Given the description of an element on the screen output the (x, y) to click on. 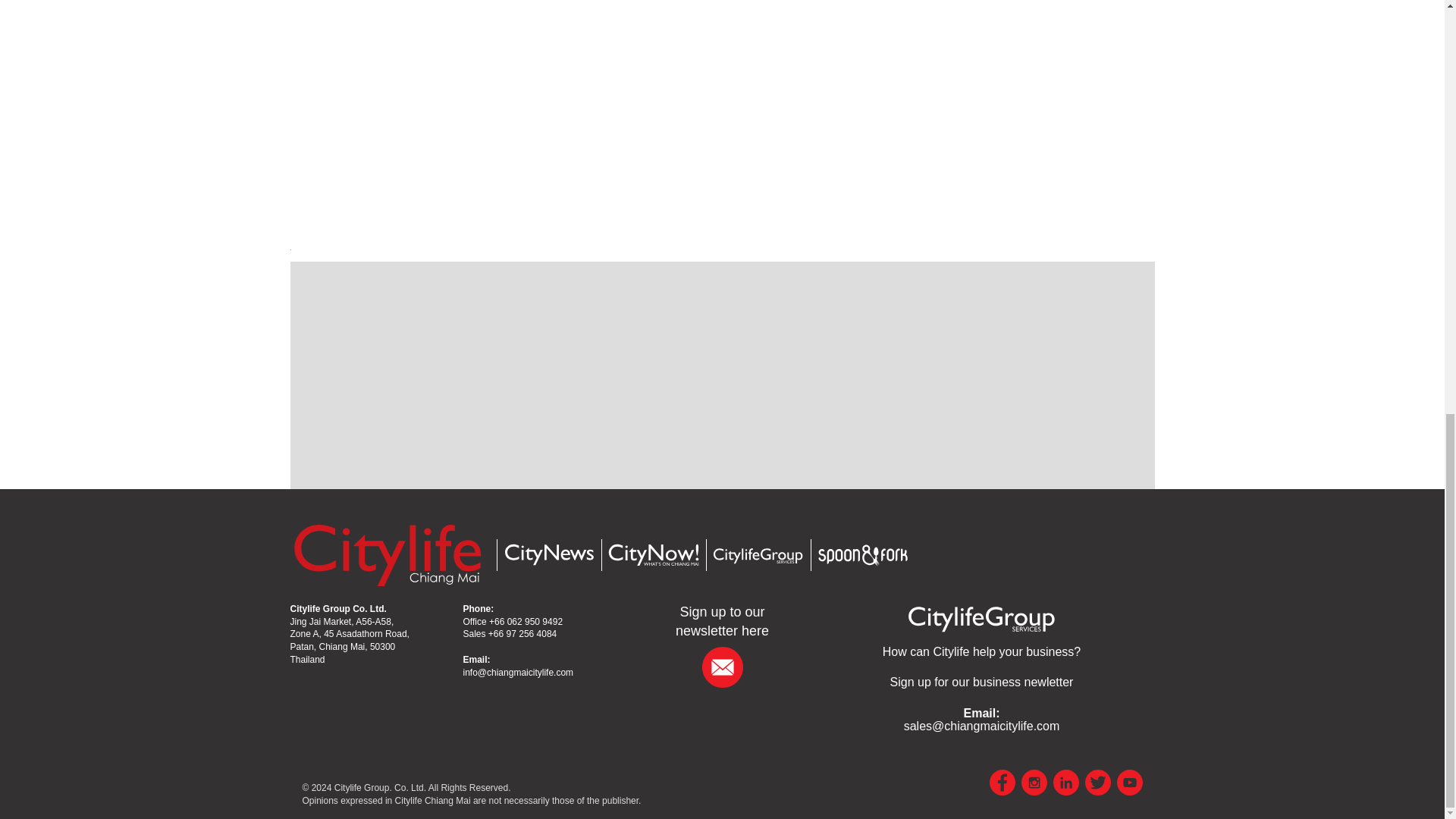
Citylife Group Services (757, 555)
Citylife Group Services (981, 651)
Chiang Mai Citylife (386, 554)
CityNews (548, 554)
Citylife Group Services (981, 617)
CityNow - What's on Chiang Mai (652, 554)
